Given the description of an element on the screen output the (x, y) to click on. 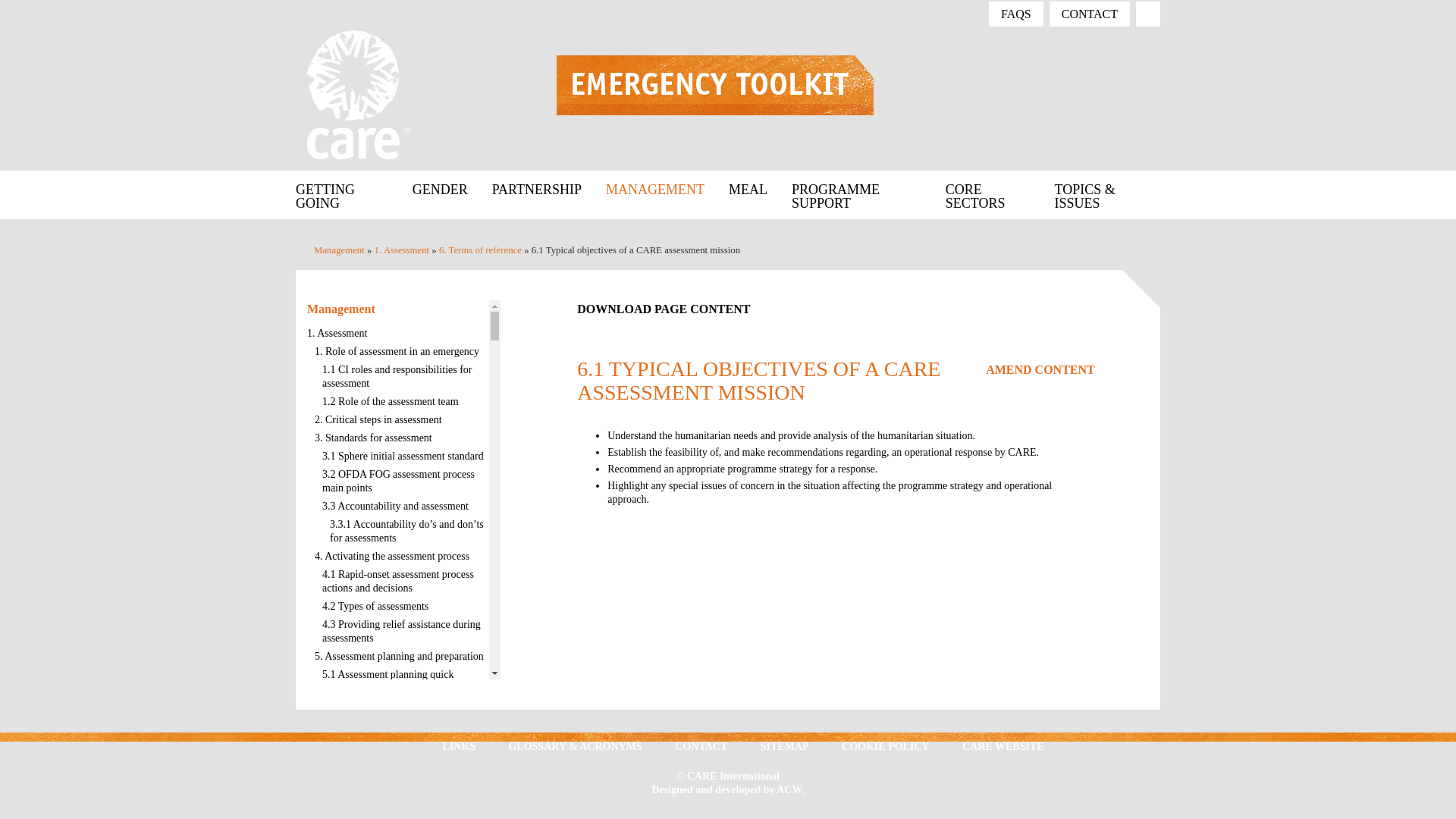
CONTACT (1089, 13)
GETTING GOING (347, 194)
GENDER (440, 187)
FAQS (1015, 13)
